Given the description of an element on the screen output the (x, y) to click on. 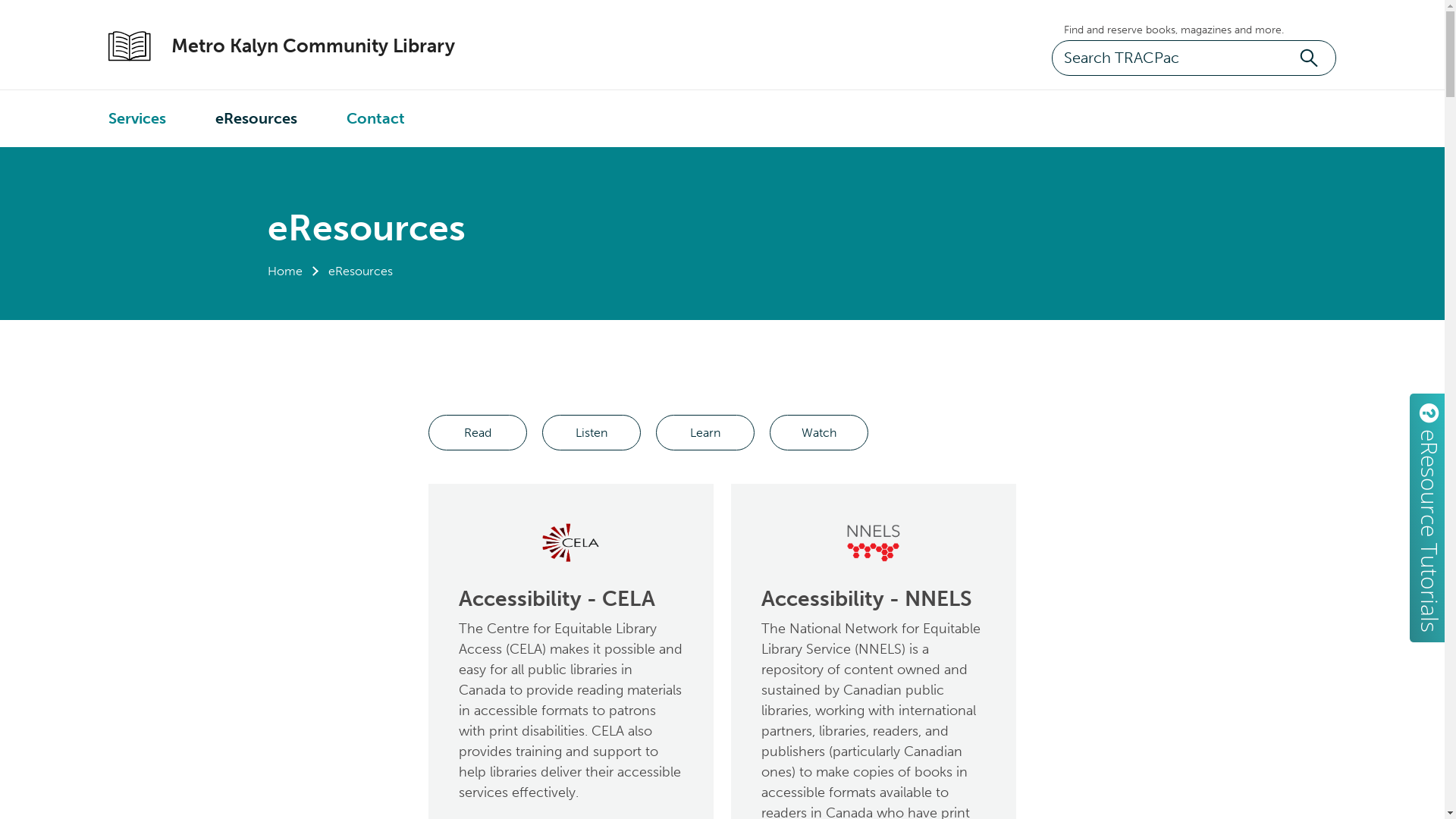
Learn Element type: text (704, 432)
Metro Kalyn Community Library Element type: text (296, 46)
eResources Element type: text (256, 118)
Watch Element type: text (818, 432)
Home Element type: text (283, 270)
Listen Element type: text (591, 432)
Contact Element type: text (375, 118)
Read Element type: text (477, 432)
Services Element type: text (137, 118)
